Given the description of an element on the screen output the (x, y) to click on. 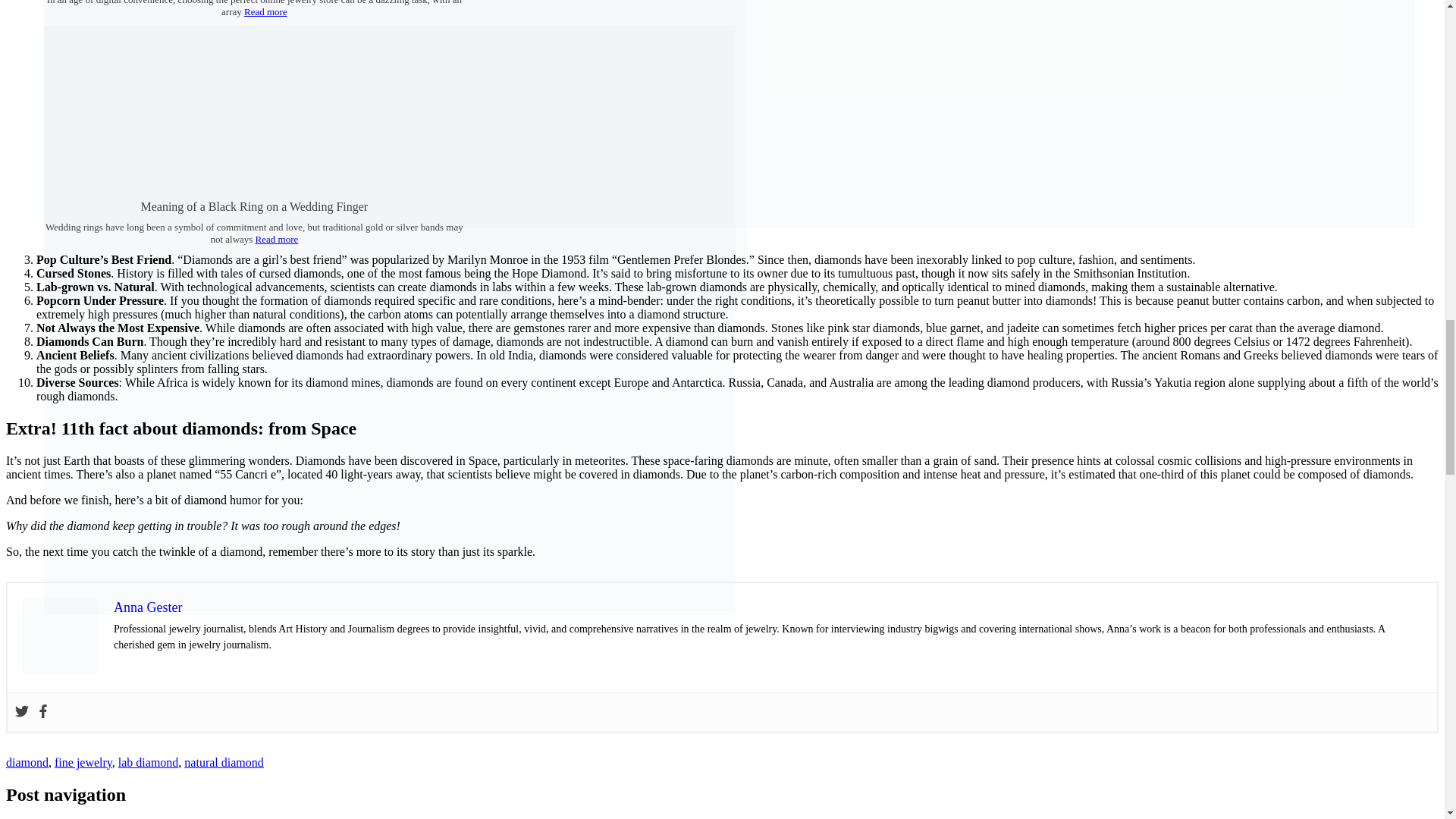
Meaning of a Black Ring on a Wedding Finger (253, 206)
Meaning of a Black Ring on a Wedding Finger (253, 206)
Twitter (21, 712)
diamond (26, 762)
Read more (265, 11)
Anna Gester (147, 607)
fine jewelry (83, 762)
Facebook (42, 712)
lab diamond (148, 762)
Meaning of a Black Ring on a Wedding Finger (389, 610)
Read more (277, 238)
